Given the description of an element on the screen output the (x, y) to click on. 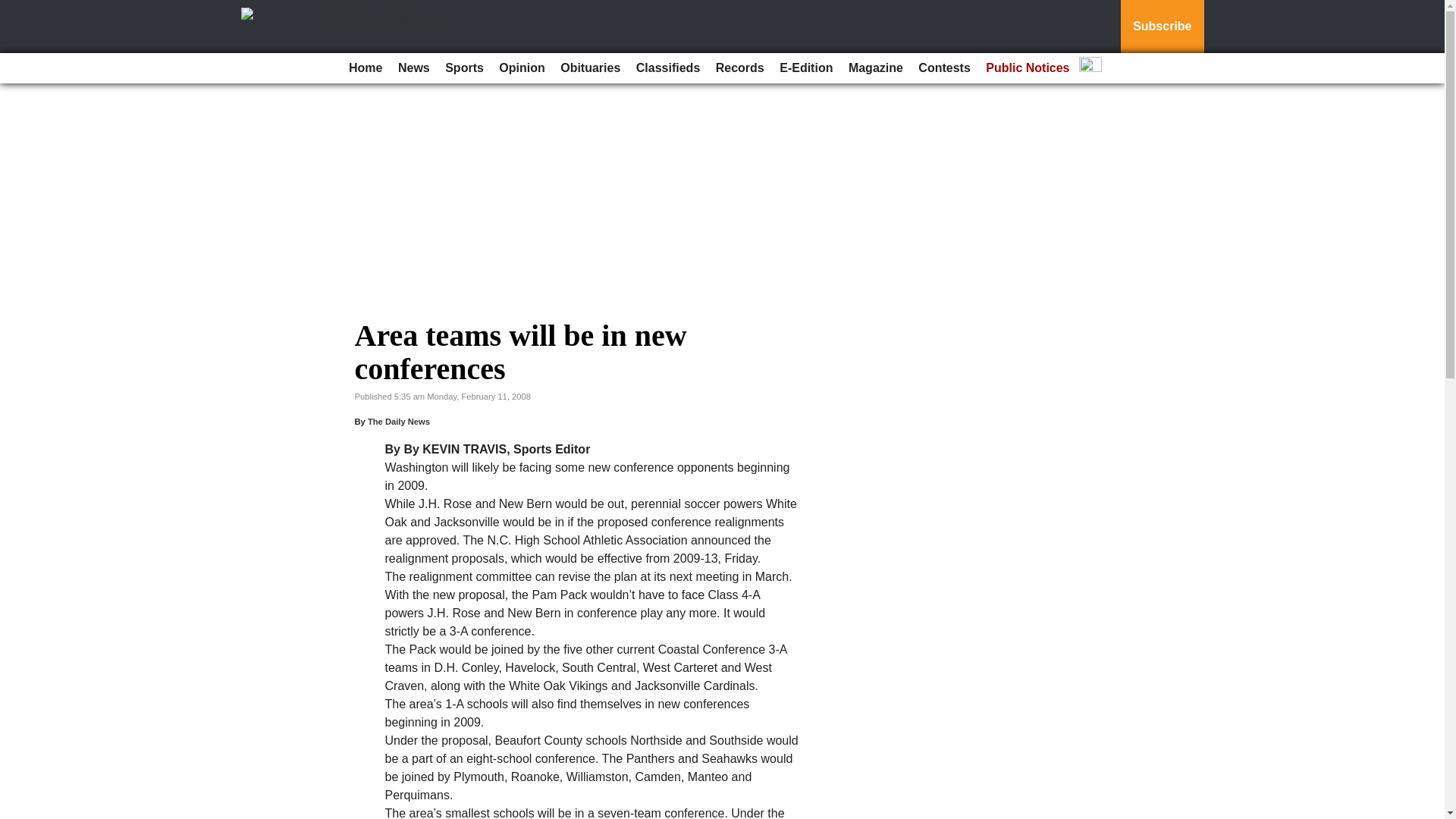
Classifieds (668, 68)
Records (740, 68)
The Daily News (398, 420)
Subscribe (1162, 26)
Home (365, 68)
Opinion (521, 68)
E-Edition (805, 68)
Public Notices (1027, 68)
News (413, 68)
Magazine (875, 68)
